Given the description of an element on the screen output the (x, y) to click on. 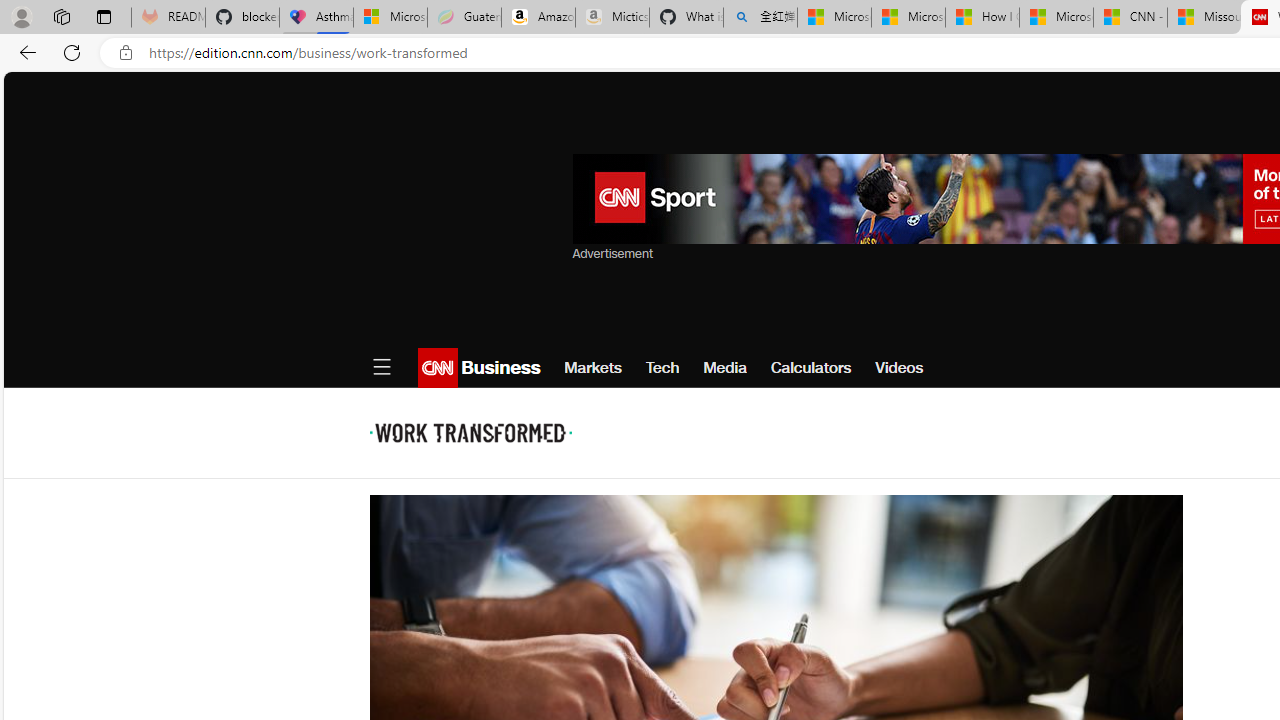
Business (498, 367)
Open Menu Icon (381, 367)
CNN logo (437, 367)
Asthma Inhalers: Names and Types (316, 17)
Videos (899, 367)
Calculators (811, 367)
